Given the description of an element on the screen output the (x, y) to click on. 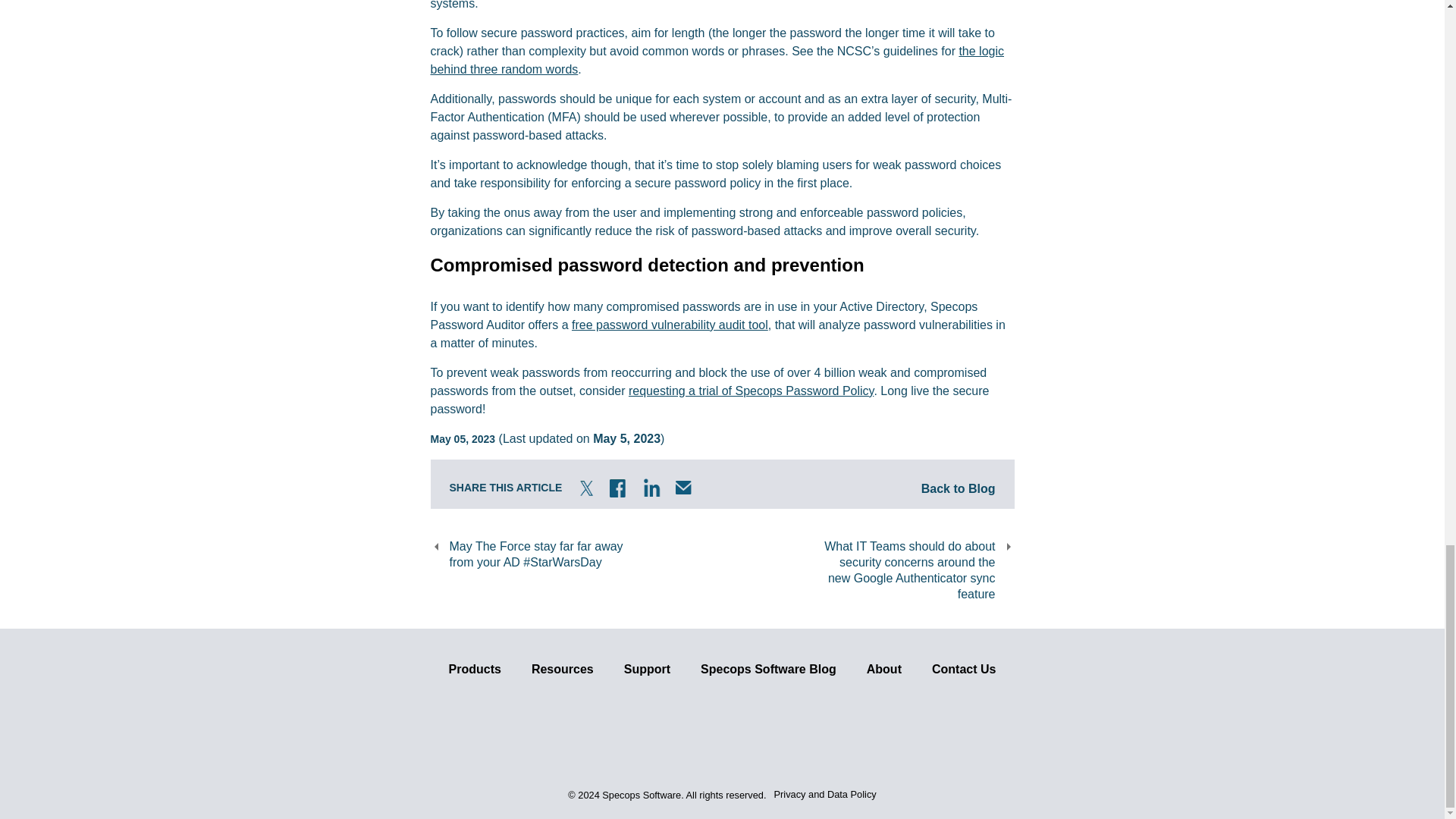
requesting a trial of Specops Password Policy (750, 390)
the logic behind three random words (717, 60)
free password vulnerability audit tool (670, 324)
Back to Blog (958, 483)
